Given the description of an element on the screen output the (x, y) to click on. 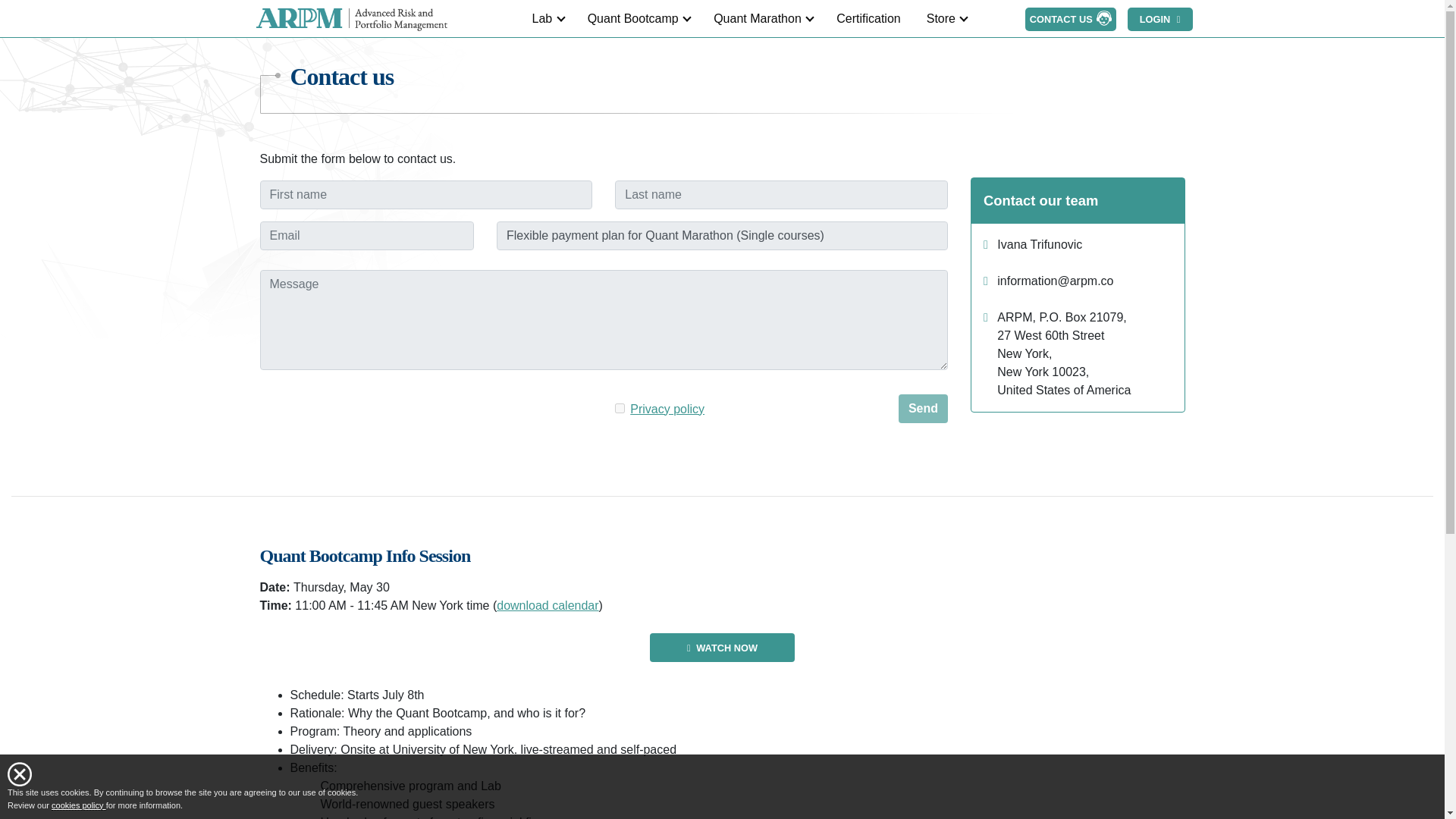
Quant Bootcamp (638, 18)
Lab (545, 18)
Quant Marathon (761, 18)
